Given the description of an element on the screen output the (x, y) to click on. 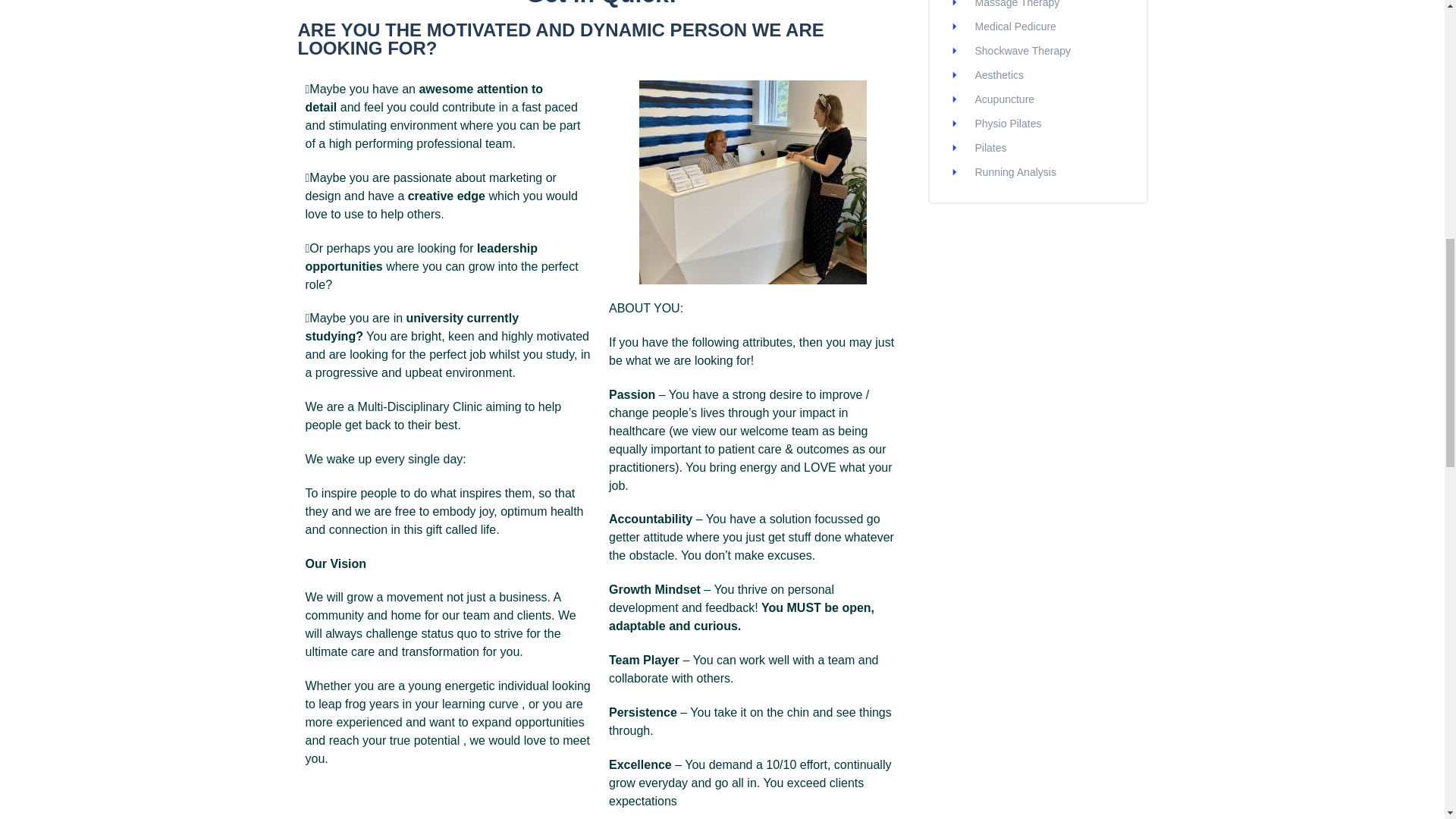
Acupuncture (1005, 99)
Physio Pilates (1008, 123)
Pilates (991, 147)
Aesthetics (1000, 74)
Massage Therapy (1017, 4)
Shockwave Therapy (1023, 50)
Running Analysis (1016, 172)
Medical Pedicure (1016, 26)
